Given the description of an element on the screen output the (x, y) to click on. 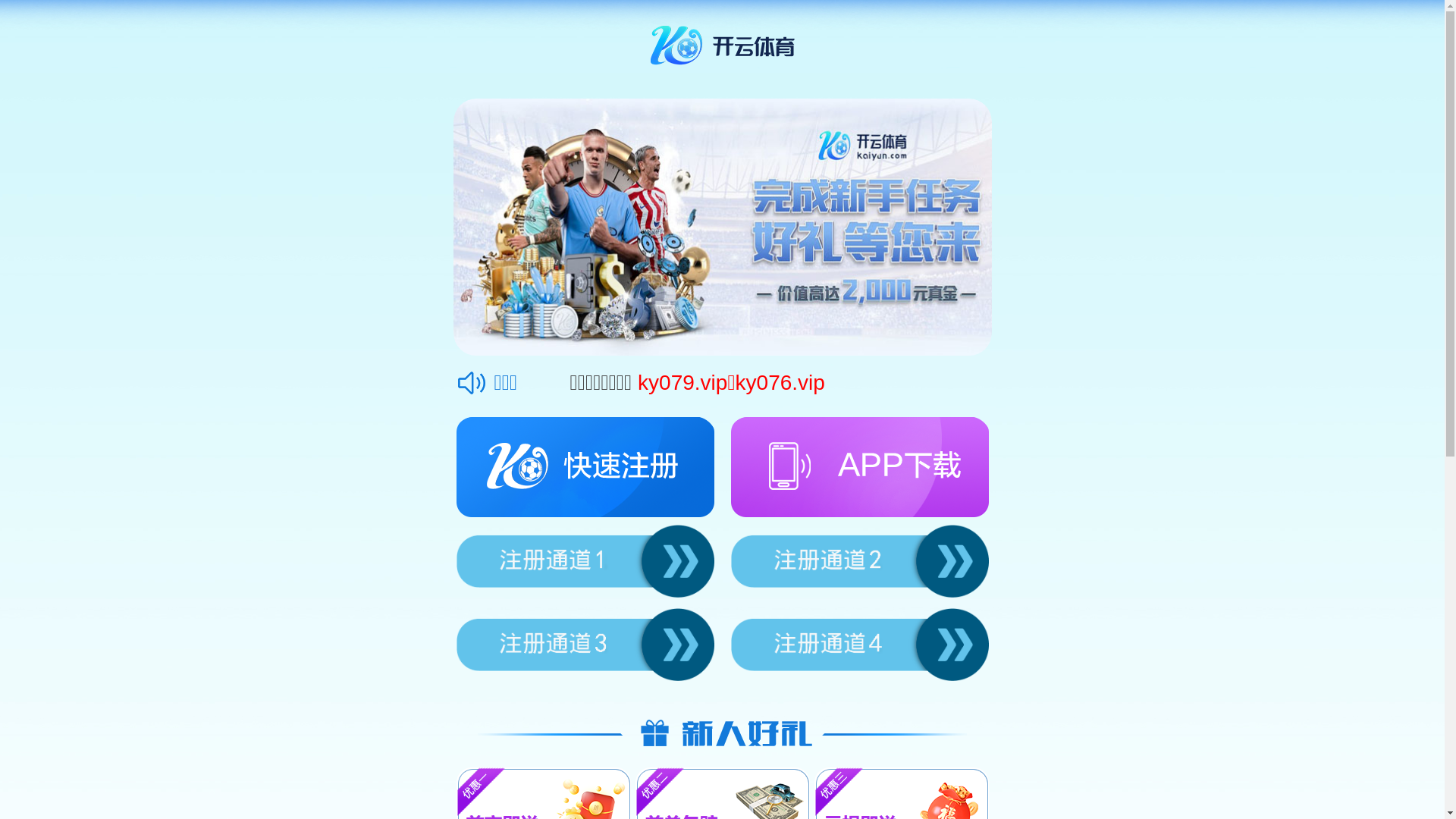
VS-600GD Element type: hover (609, 723)
VS-450ST Element type: hover (806, 723)
VS-1500 Element type: text (1004, 739)
VS-600GD Element type: text (609, 739)
VS-450ST Element type: text (806, 739)
VS-1500 Element type: hover (1003, 723)
